Given the description of an element on the screen output the (x, y) to click on. 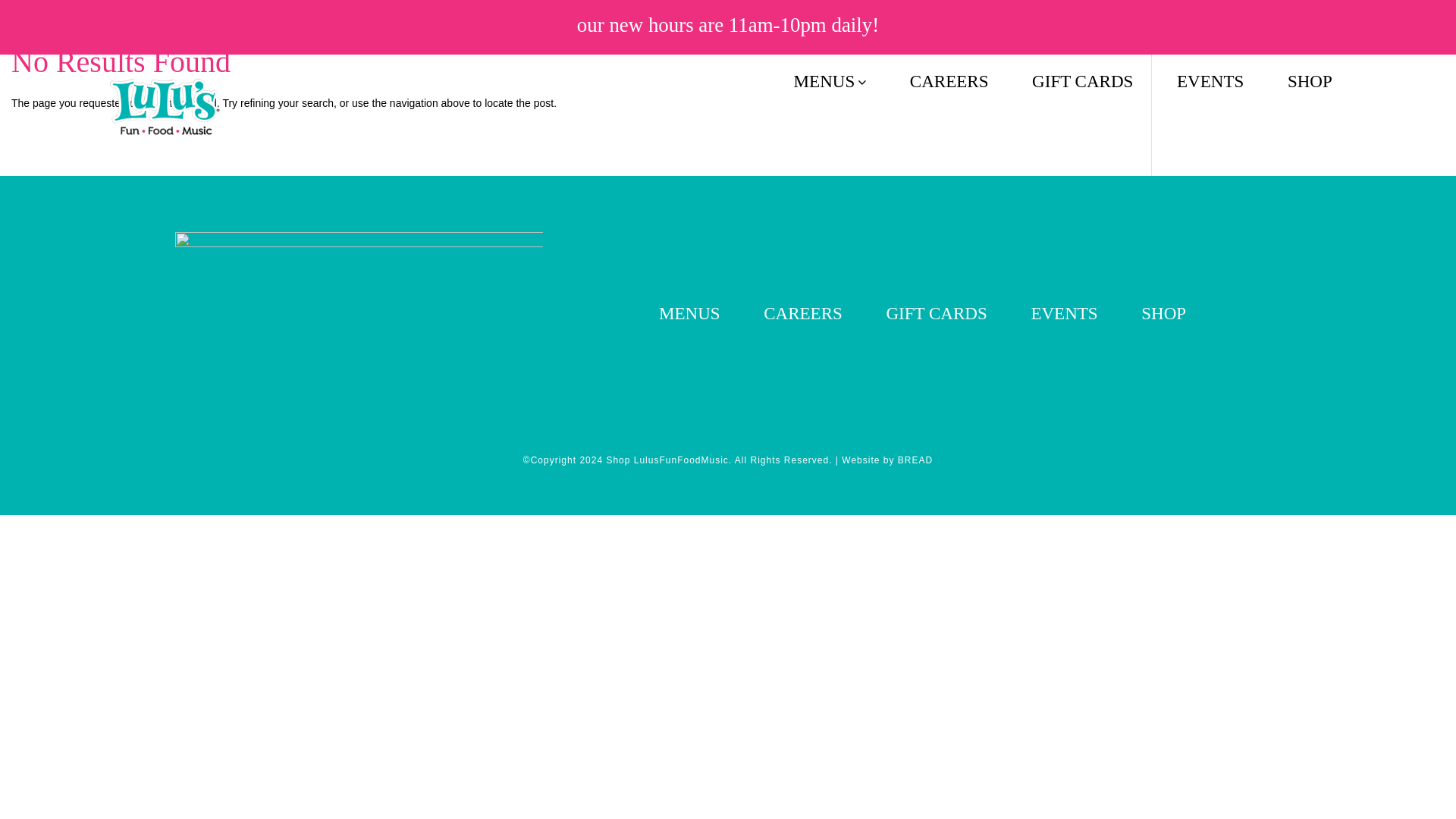
GIFT CARDS (936, 312)
EVENTS (1209, 81)
EVENTS (1063, 312)
CAREERS (802, 312)
SHOP (1309, 81)
SHOP (1309, 81)
GIFT CARDS (936, 312)
CAREERS (949, 81)
CAREERS (802, 312)
MENUS (689, 312)
SHOP (1163, 312)
SHOP (1163, 312)
lulus-logo (165, 107)
CAREERS (949, 81)
BREAD (915, 460)
